Given the description of an element on the screen output the (x, y) to click on. 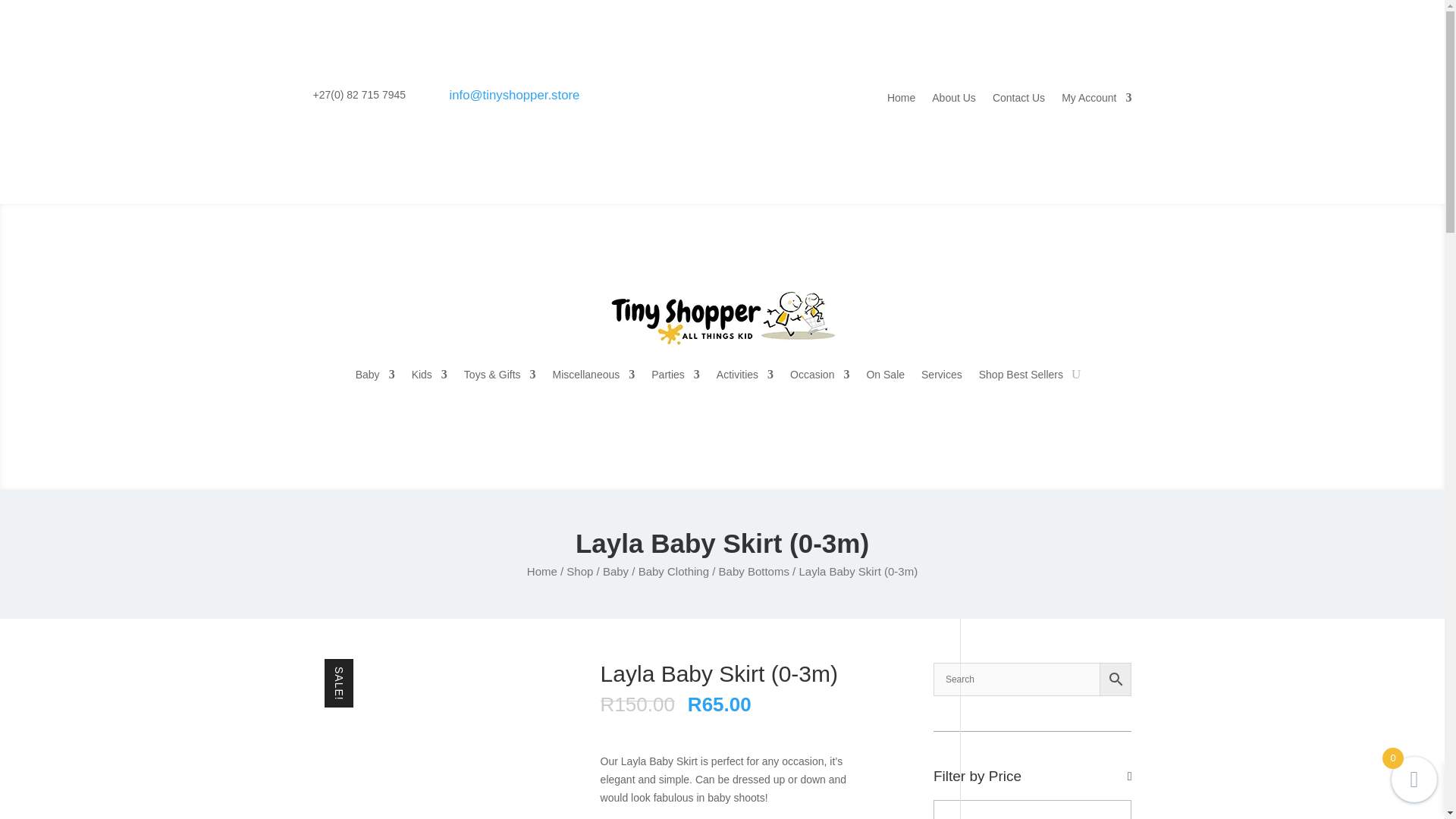
Follow on Facebook (597, 98)
About Us (953, 100)
My Account (1096, 100)
Home (900, 100)
Contact Us (1018, 100)
Follow on Instagram (627, 98)
